Given the description of an element on the screen output the (x, y) to click on. 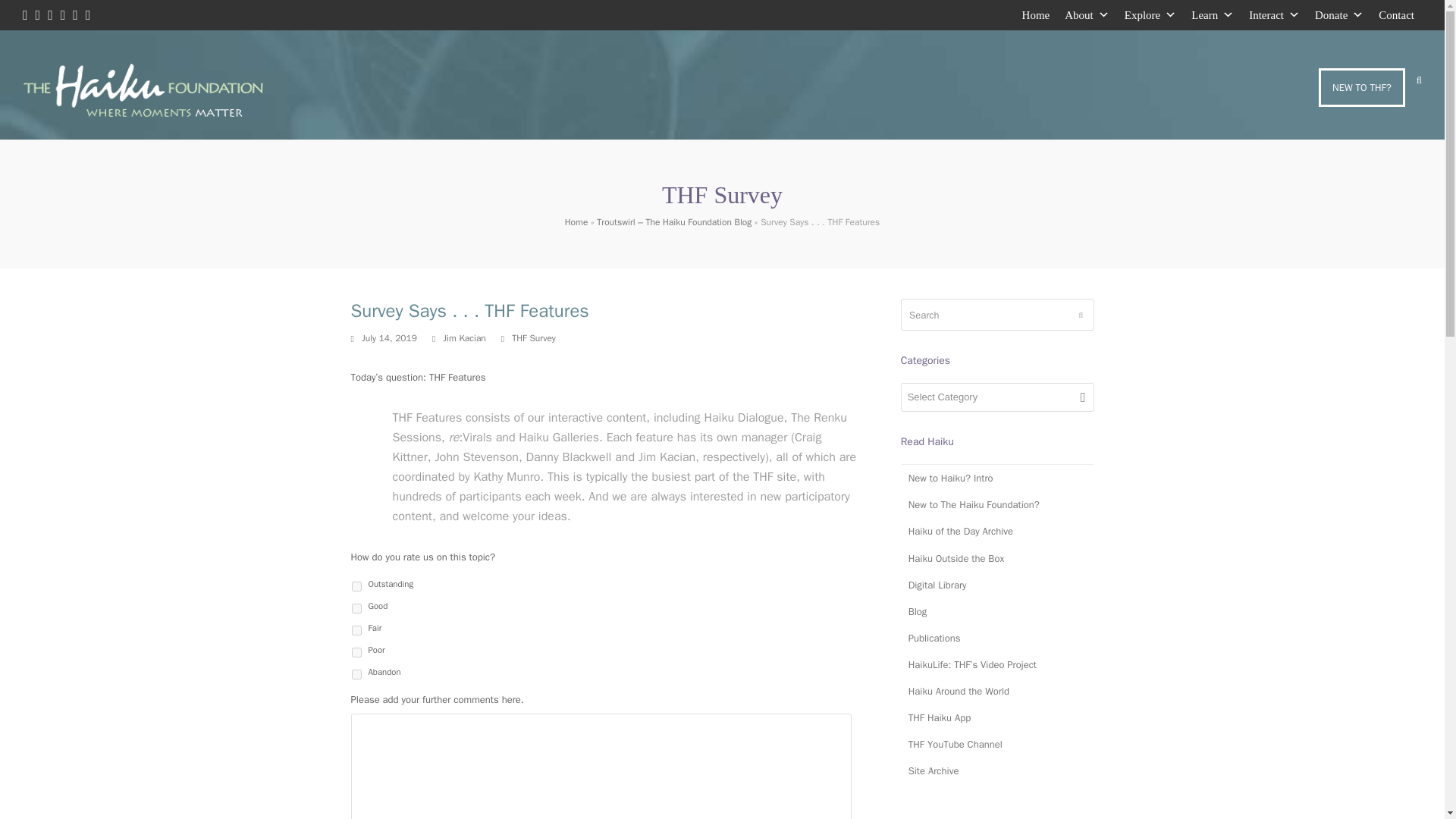
Abandon (356, 674)
Posts by Jim Kacian (463, 337)
Fair (356, 630)
Outstanding (356, 586)
Good (356, 608)
Poor (356, 652)
